Given the description of an element on the screen output the (x, y) to click on. 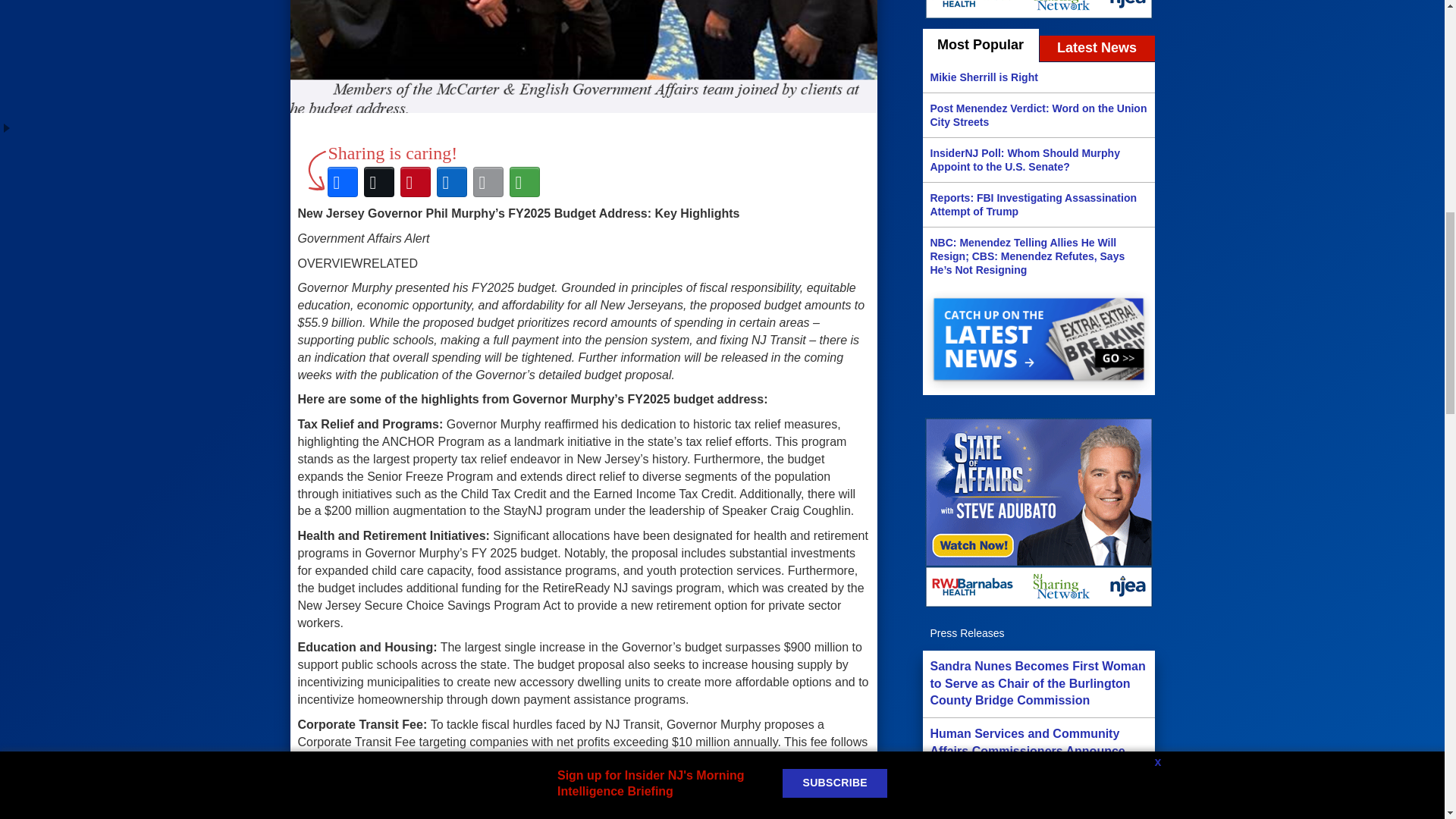
Facebook (342, 181)
Pinterest (415, 181)
Latest News (1096, 49)
Mikie Sherrill is Right (1037, 77)
LinkedIn (451, 181)
Email This (488, 181)
Most Popular (979, 45)
